Given the description of an element on the screen output the (x, y) to click on. 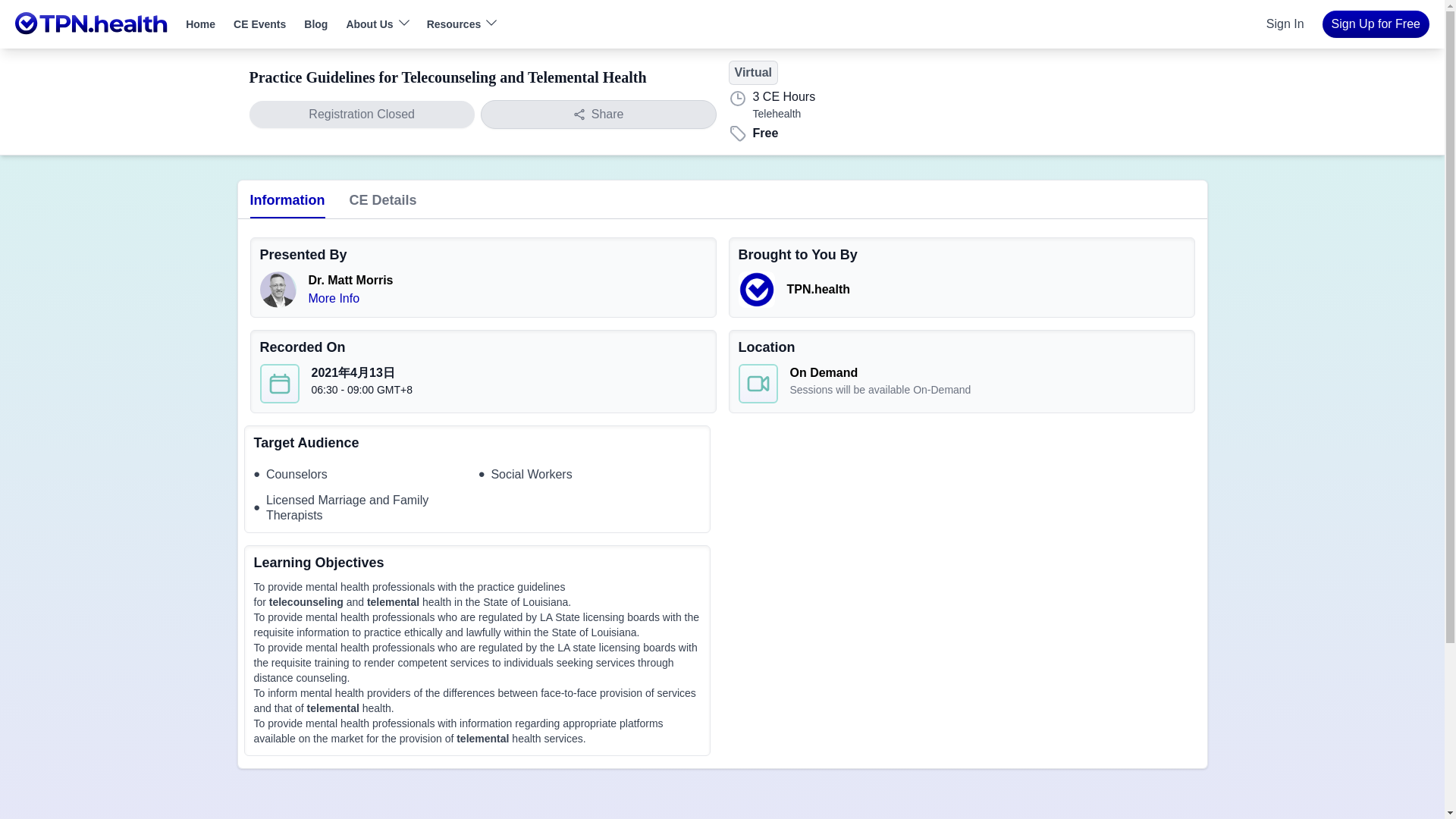
More Info (333, 297)
CE Events (259, 24)
09:00 (360, 389)
Resources (453, 22)
Sign Up for Free (1375, 23)
Registration Closed (361, 113)
Share (598, 113)
About Us (369, 22)
TPN.health (818, 288)
Sign In (1284, 24)
